Given the description of an element on the screen output the (x, y) to click on. 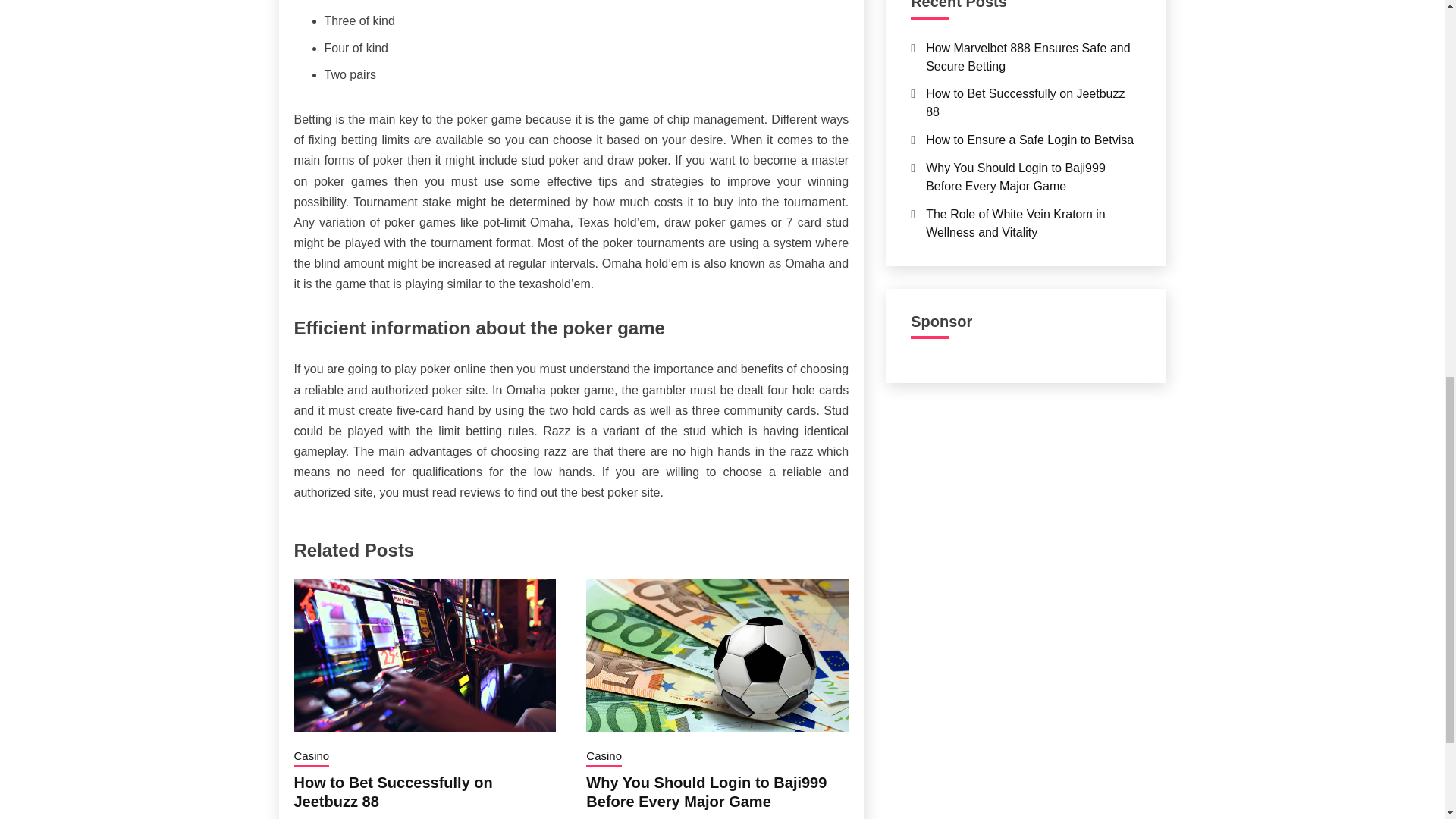
How to Bet Successfully on Jeetbuzz 88 (393, 791)
Casino (603, 757)
Why You Should Login to Baji999 Before Every Major Game (706, 791)
Casino (312, 757)
